Given the description of an element on the screen output the (x, y) to click on. 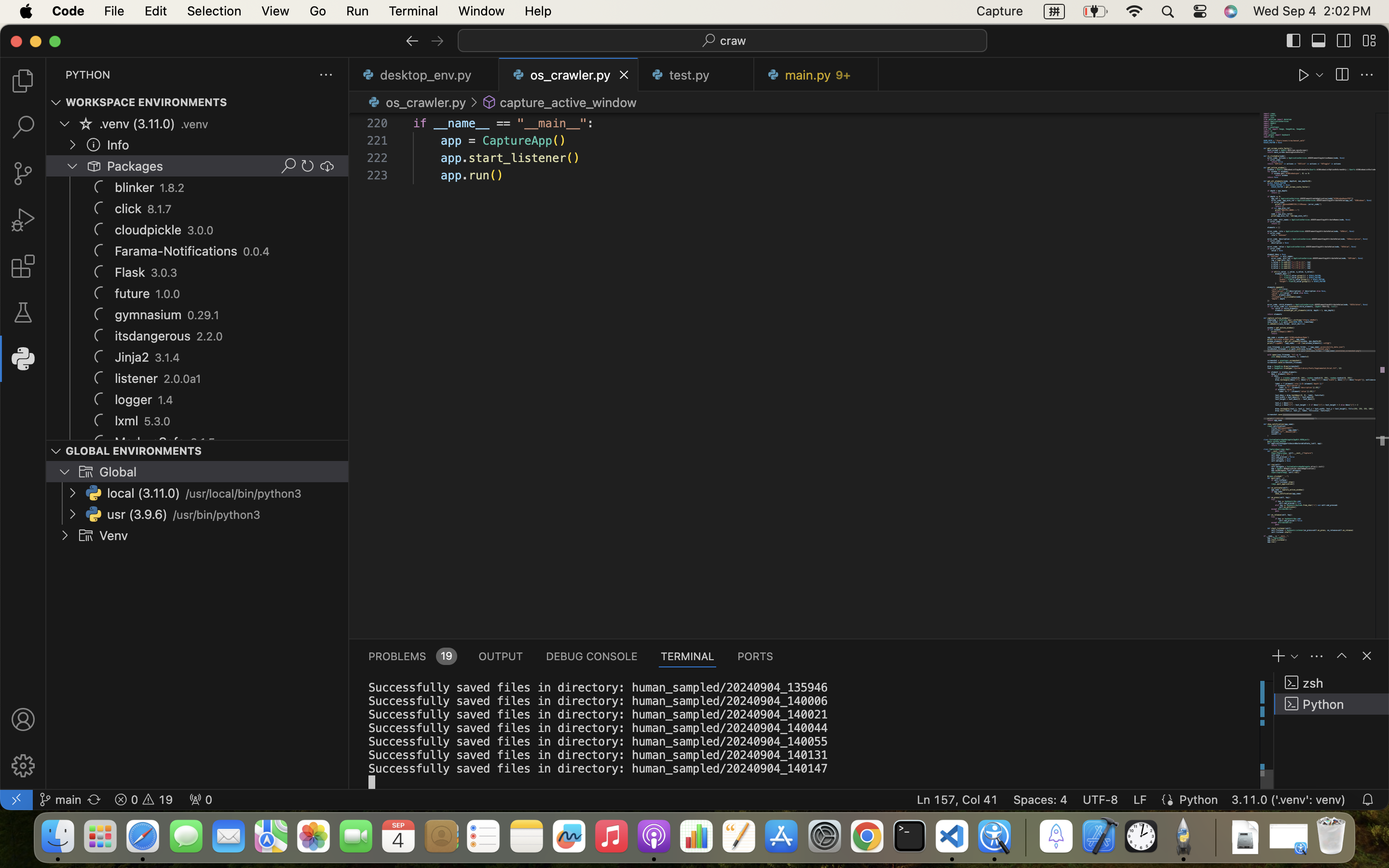
itsdangerous Element type: AXStaticText (152, 335)
 Element type: AXStaticText (93, 165)
3.0.0 Element type: AXStaticText (200, 230)
2.2.0 Element type: AXStaticText (208, 336)
 Element type: AXButton (307, 165)
